Given the description of an element on the screen output the (x, y) to click on. 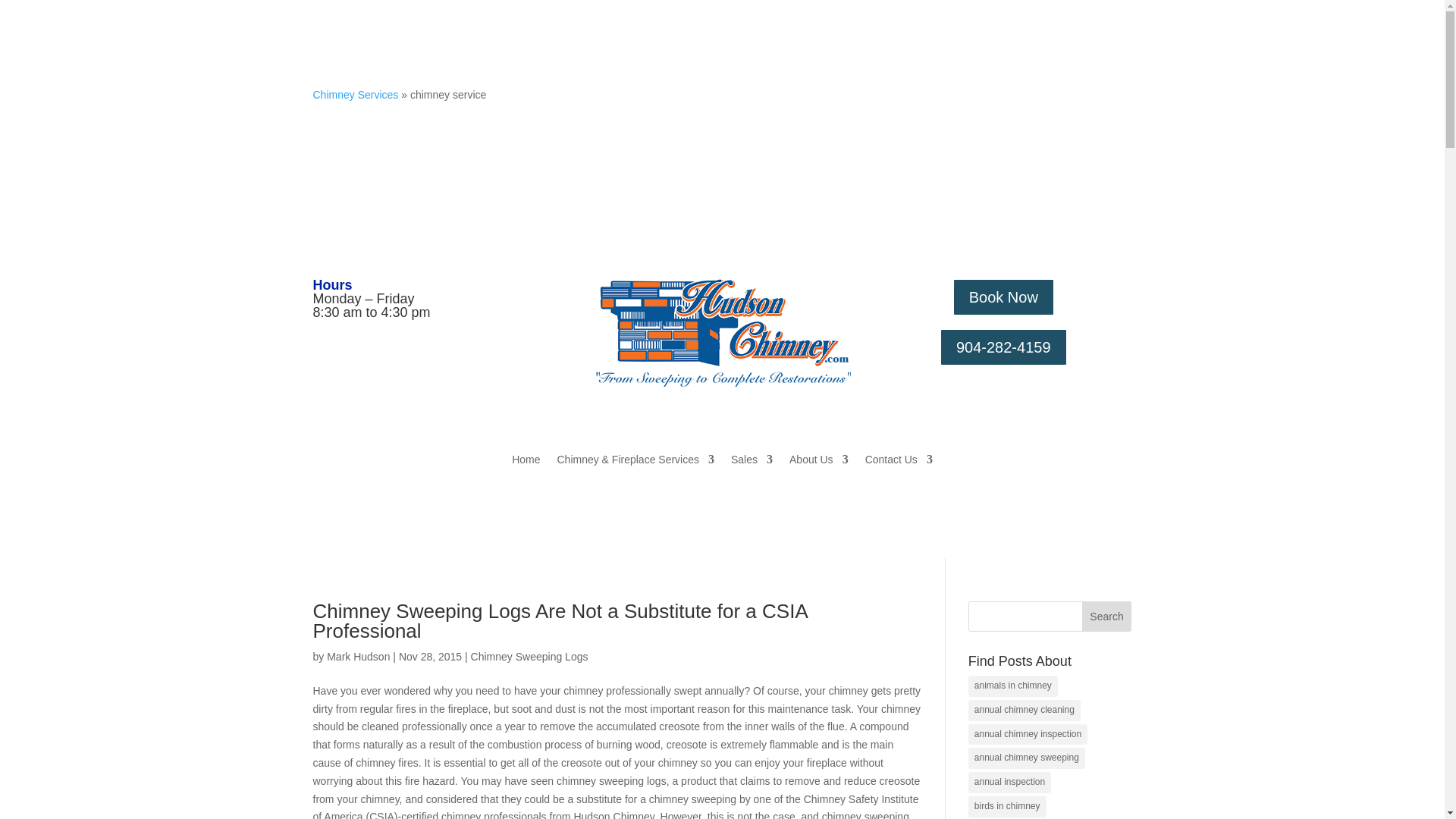
Book Now (1003, 297)
904-282-4159 (1003, 347)
Original Photo- Hudson Chimney logo- Hudson Chimney (722, 334)
Contact Us (898, 462)
About Us (818, 462)
Chimney Sweeping Logs (529, 656)
Sales (751, 462)
Mark Hudson (358, 656)
Posts by Mark Hudson (358, 656)
